Given the description of an element on the screen output the (x, y) to click on. 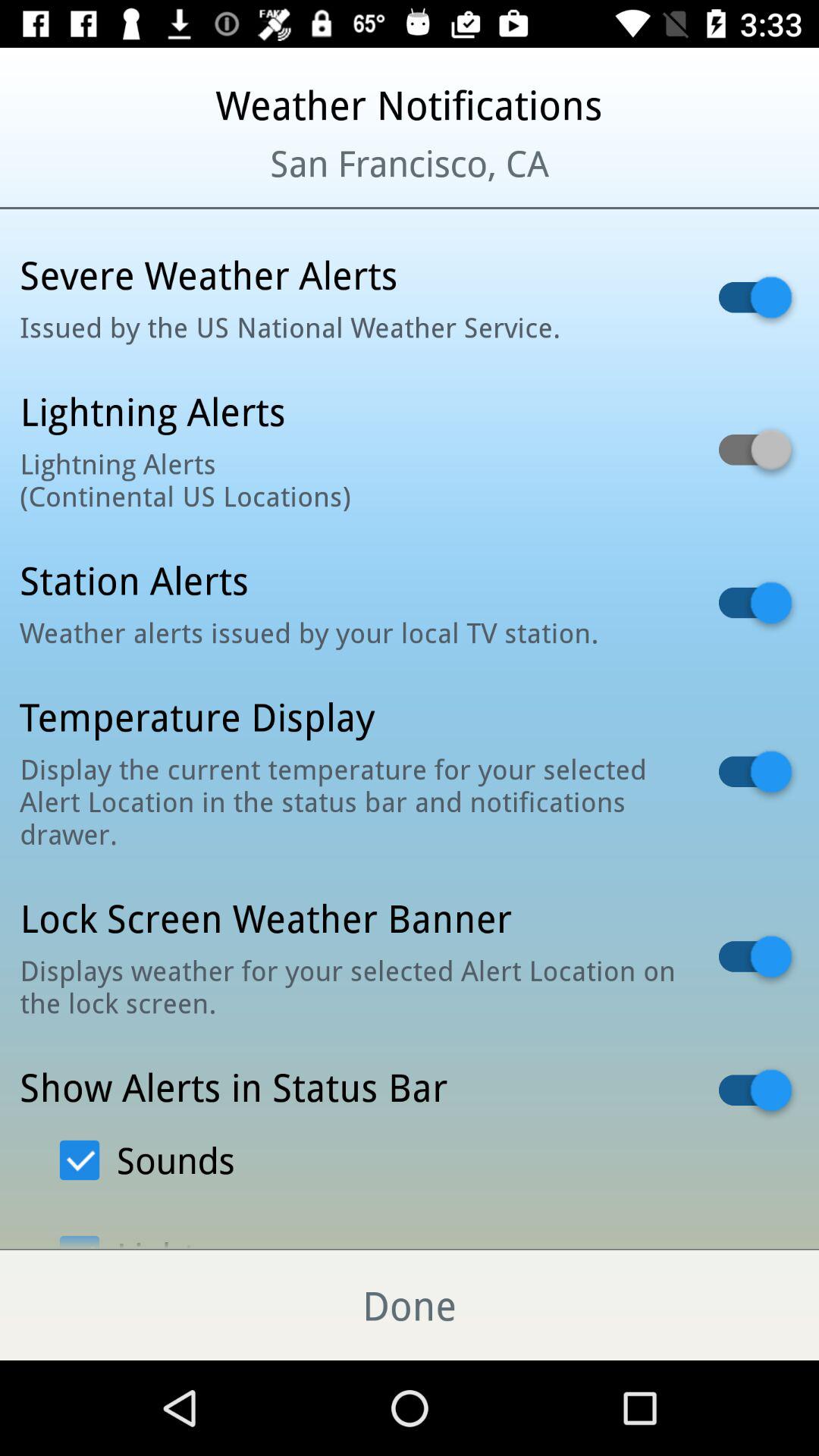
flip until the displays weather for (349, 986)
